Given the description of an element on the screen output the (x, y) to click on. 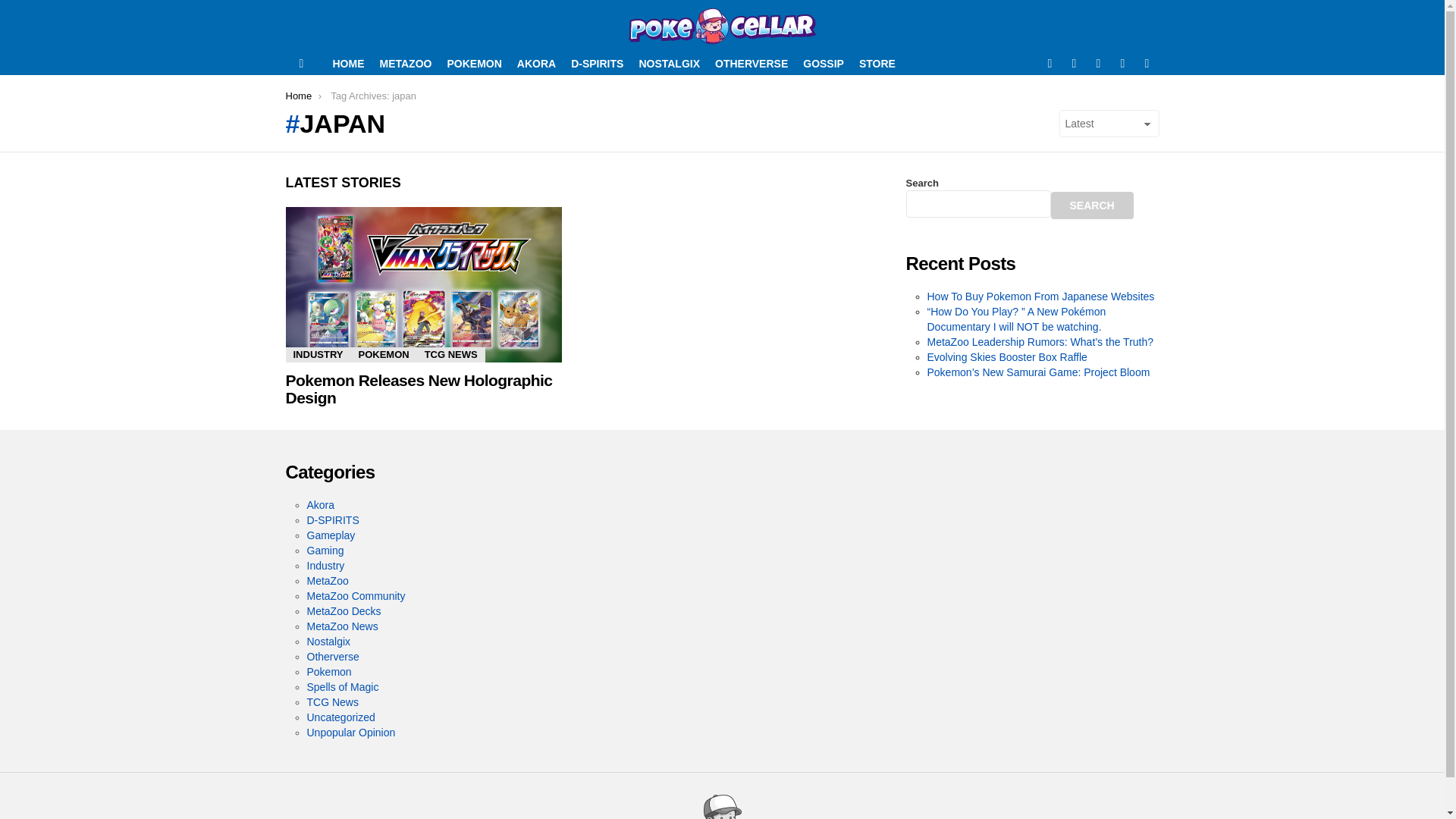
STORE (876, 63)
OTHERVERSE (750, 63)
How To Buy Pokemon From Japanese Websites (1040, 296)
D-SPIRITS (331, 520)
Twitter (1073, 63)
INDUSTRY (317, 354)
POKEMON (473, 63)
METAZOO (405, 63)
Instagram (1121, 63)
Evolving Skies Booster Box Raffle (1006, 357)
Akora (319, 504)
Gameplay (330, 535)
Home (298, 95)
Pokemon Releases New Holographic Design (422, 284)
Pokemon Releases New Holographic Design (418, 389)
